Given the description of an element on the screen output the (x, y) to click on. 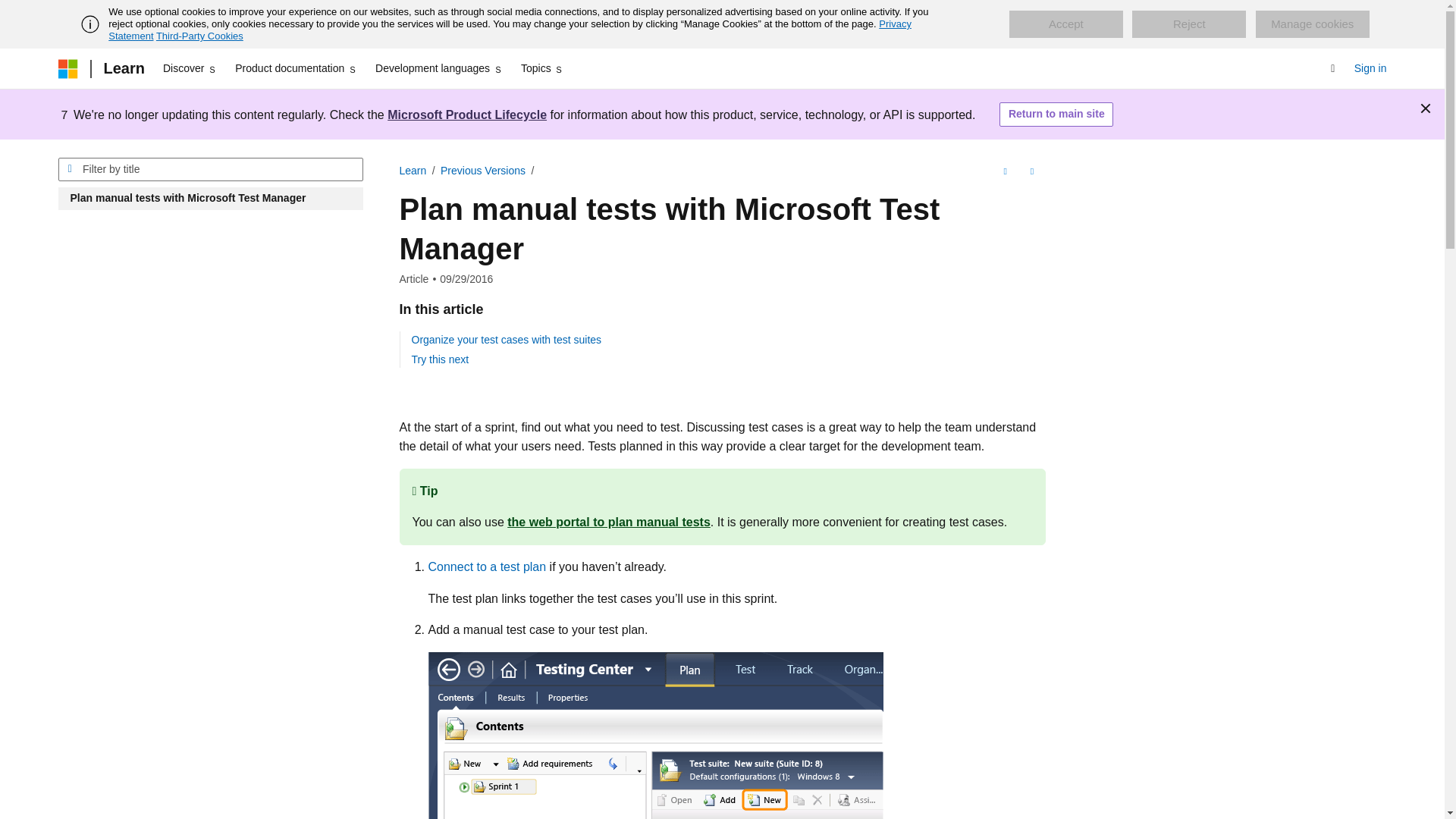
Microsoft Product Lifecycle (467, 114)
Learn (123, 68)
Return to main site (1055, 114)
Third-Party Cookies (199, 35)
Skip to main content (11, 11)
Topics (542, 68)
Create a test case (655, 735)
Privacy Statement (509, 29)
Manage cookies (1312, 23)
Plan manual tests with Microsoft Test Manager (210, 198)
Reject (1189, 23)
Sign in (1370, 68)
Discover (189, 68)
Dismiss alert (1425, 108)
Learn (412, 170)
